Given the description of an element on the screen output the (x, y) to click on. 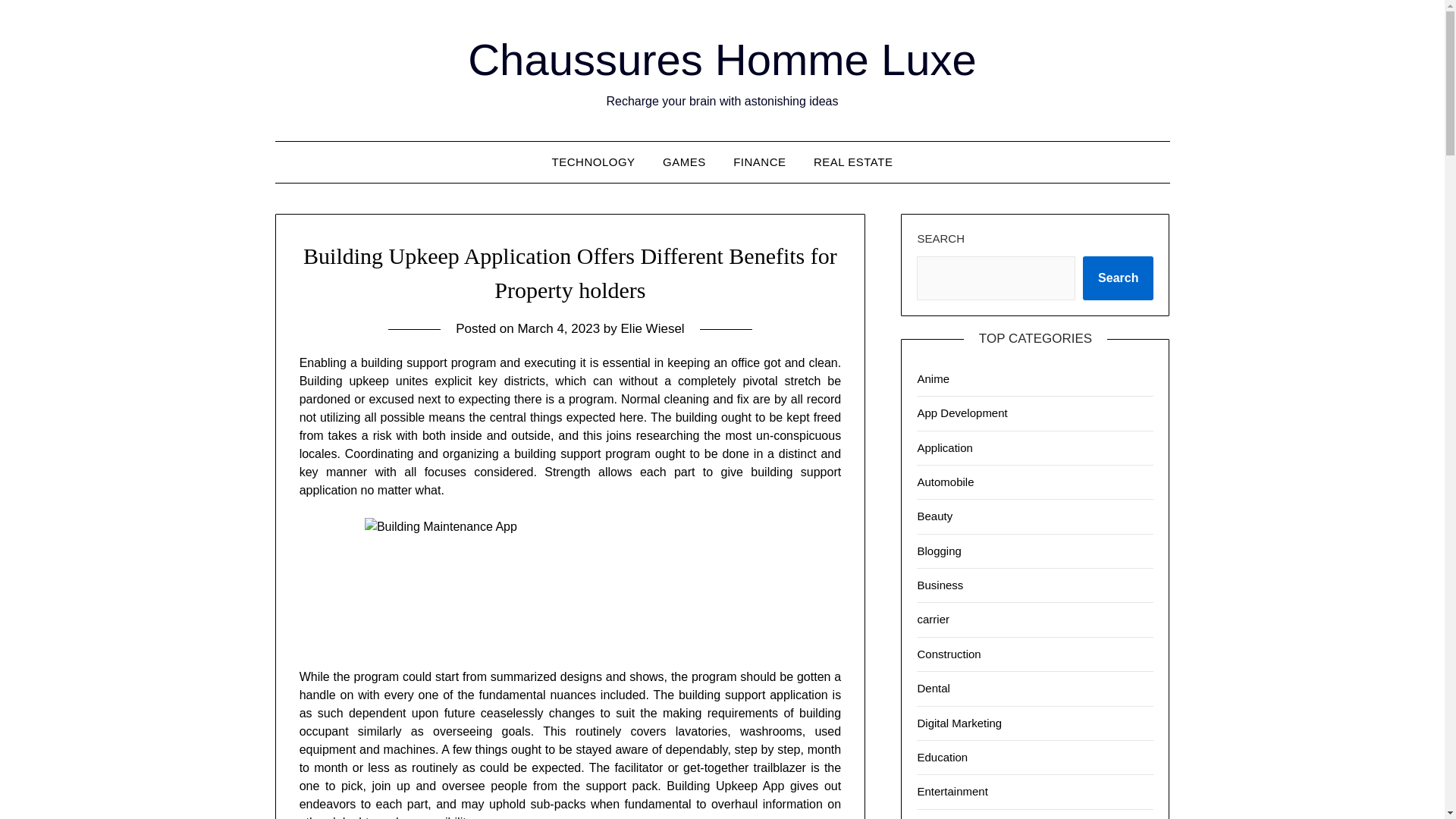
Beauty (934, 515)
Application (944, 447)
Anime (933, 378)
Blogging (938, 550)
Education (942, 757)
App Development (962, 412)
March 4, 2023 (557, 328)
Construction (948, 653)
GAMES (683, 161)
TECHNOLOGY (593, 161)
carrier (933, 618)
Search (1118, 278)
Dental (933, 687)
Digital Marketing (959, 721)
Entertainment (952, 790)
